Given the description of an element on the screen output the (x, y) to click on. 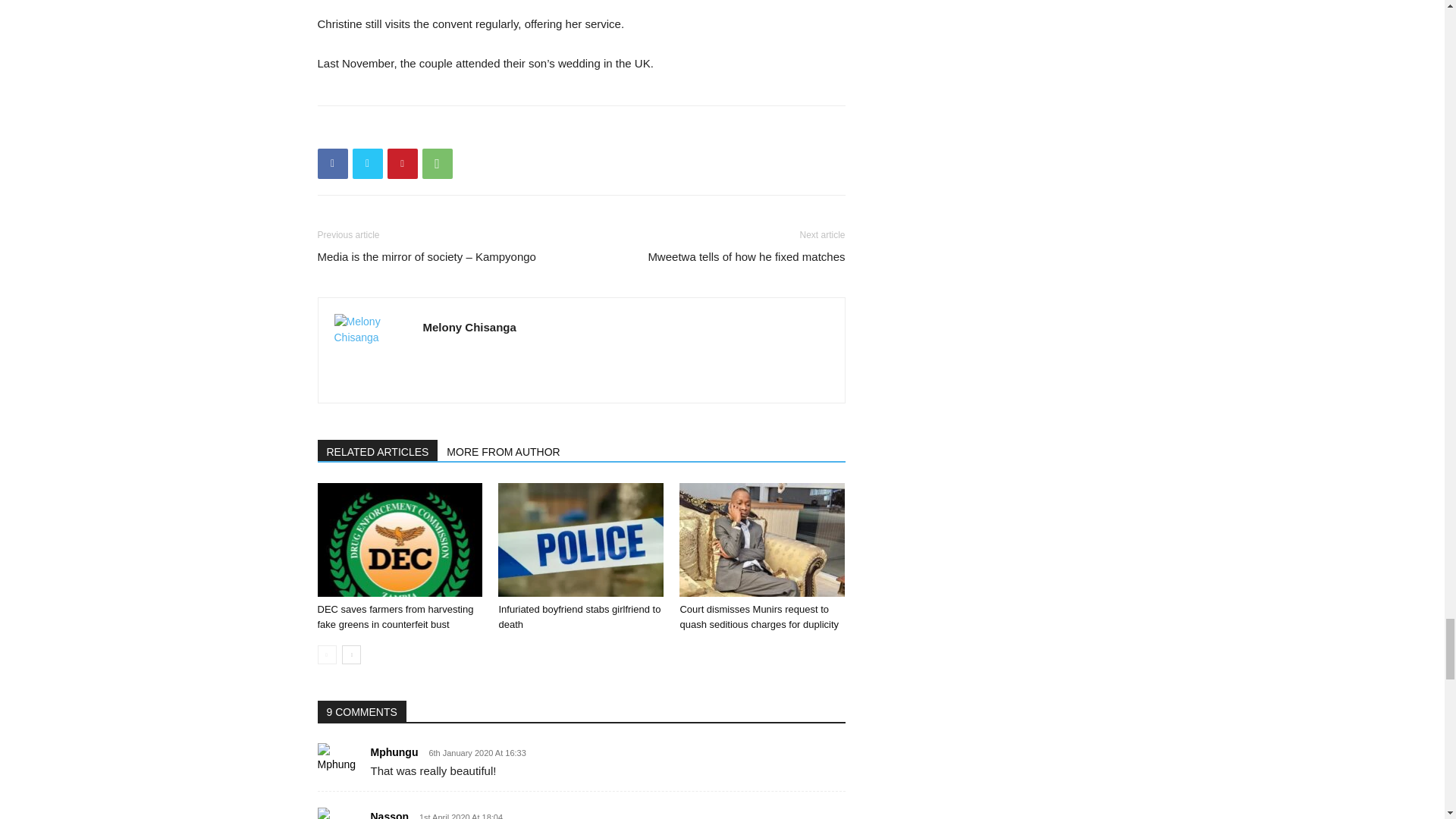
bottomFacebookLike (430, 130)
WhatsApp (436, 163)
Pinterest (401, 163)
Twitter (366, 163)
Facebook (332, 163)
